Given the description of an element on the screen output the (x, y) to click on. 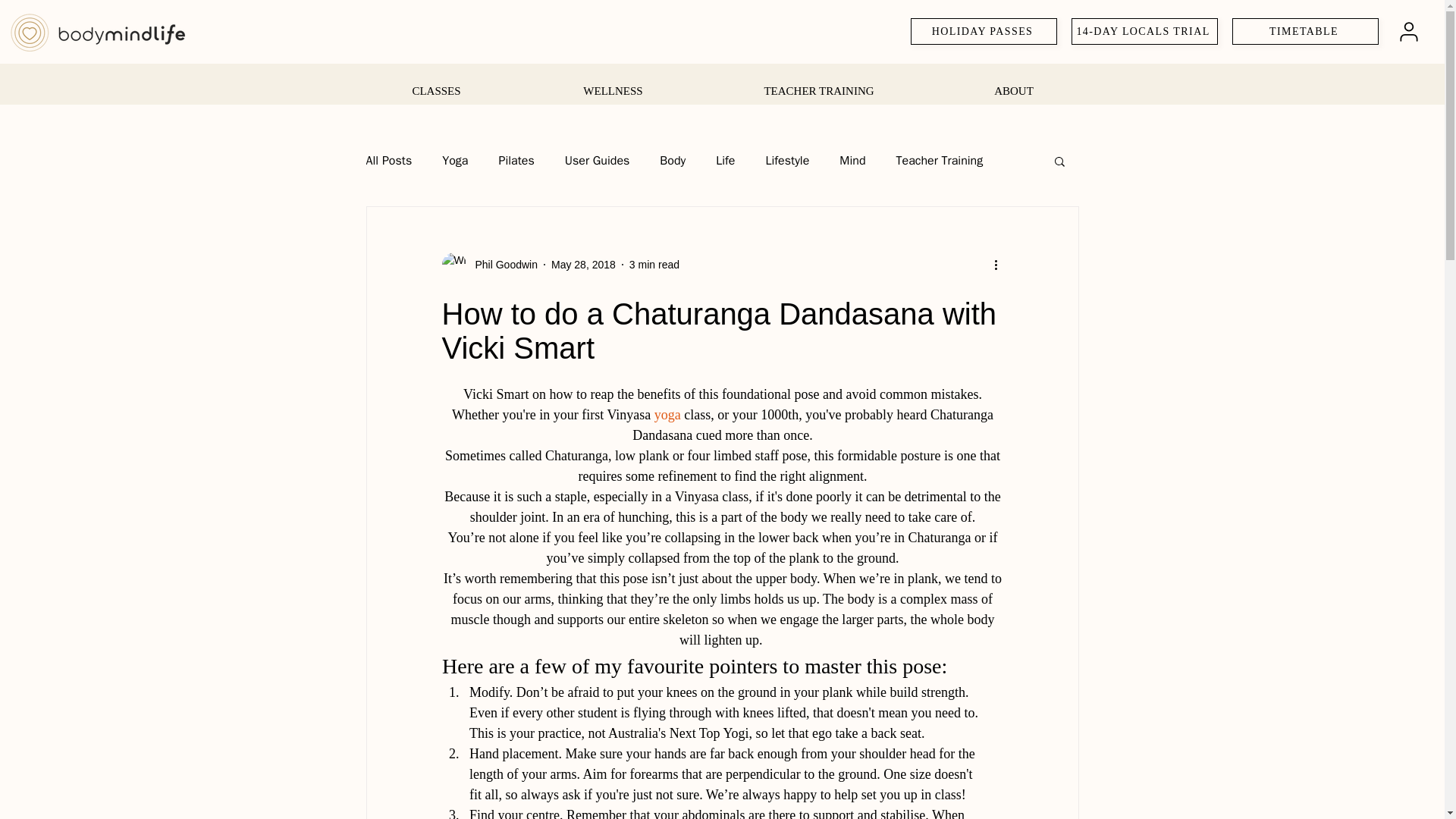
Life (725, 160)
All Posts (388, 160)
Phil Goodwin (489, 264)
TIMETABLE (1304, 31)
Yoga (454, 160)
Teacher Training (940, 160)
yoga (666, 414)
Lifestyle (787, 160)
HOLIDAY PASSES (984, 31)
Body (672, 160)
